Given the description of an element on the screen output the (x, y) to click on. 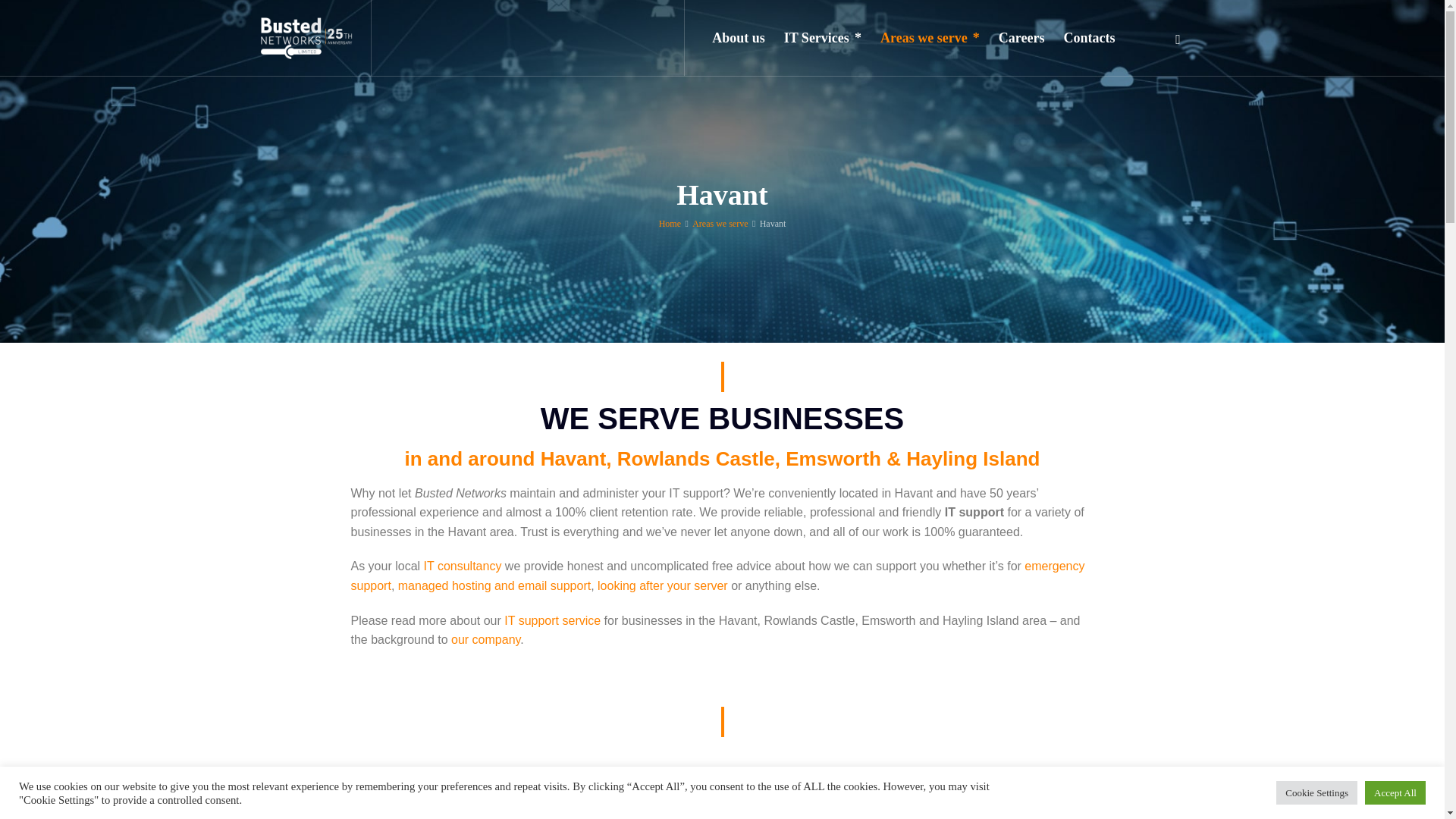
Busted Networks (305, 38)
Areas we serve (930, 38)
Areas we serve (720, 223)
IT consultancy (462, 565)
emergency support (717, 575)
Home (670, 223)
About us (738, 38)
IT Services (822, 38)
Contacts (1089, 38)
